Given the description of an element on the screen output the (x, y) to click on. 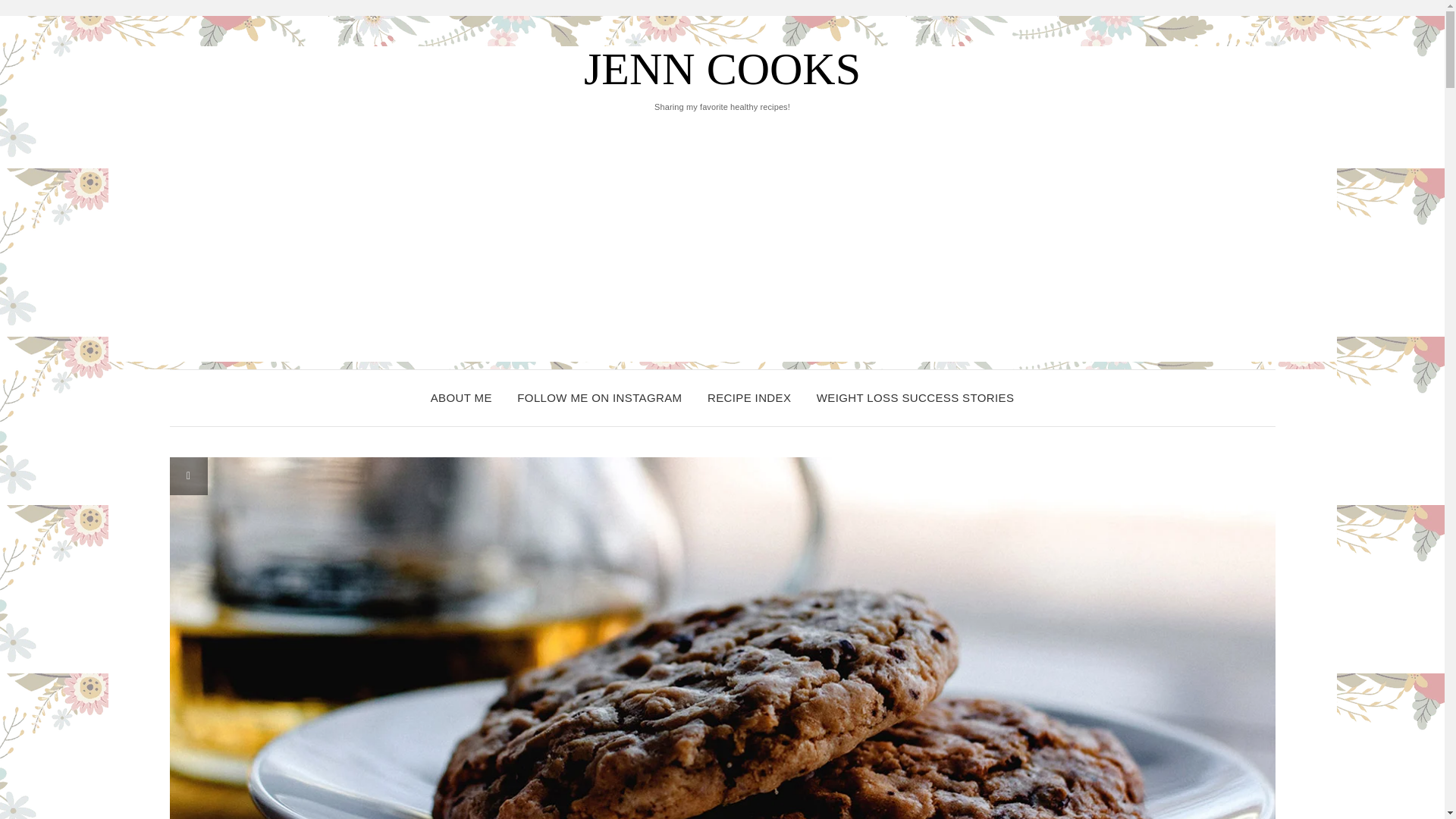
RECIPE INDEX (748, 397)
WEIGHT LOSS SUCCESS STORIES (914, 397)
FOLLOW ME ON INSTAGRAM (598, 397)
ABOUT ME (461, 397)
JENN COOKS (721, 69)
